Given the description of an element on the screen output the (x, y) to click on. 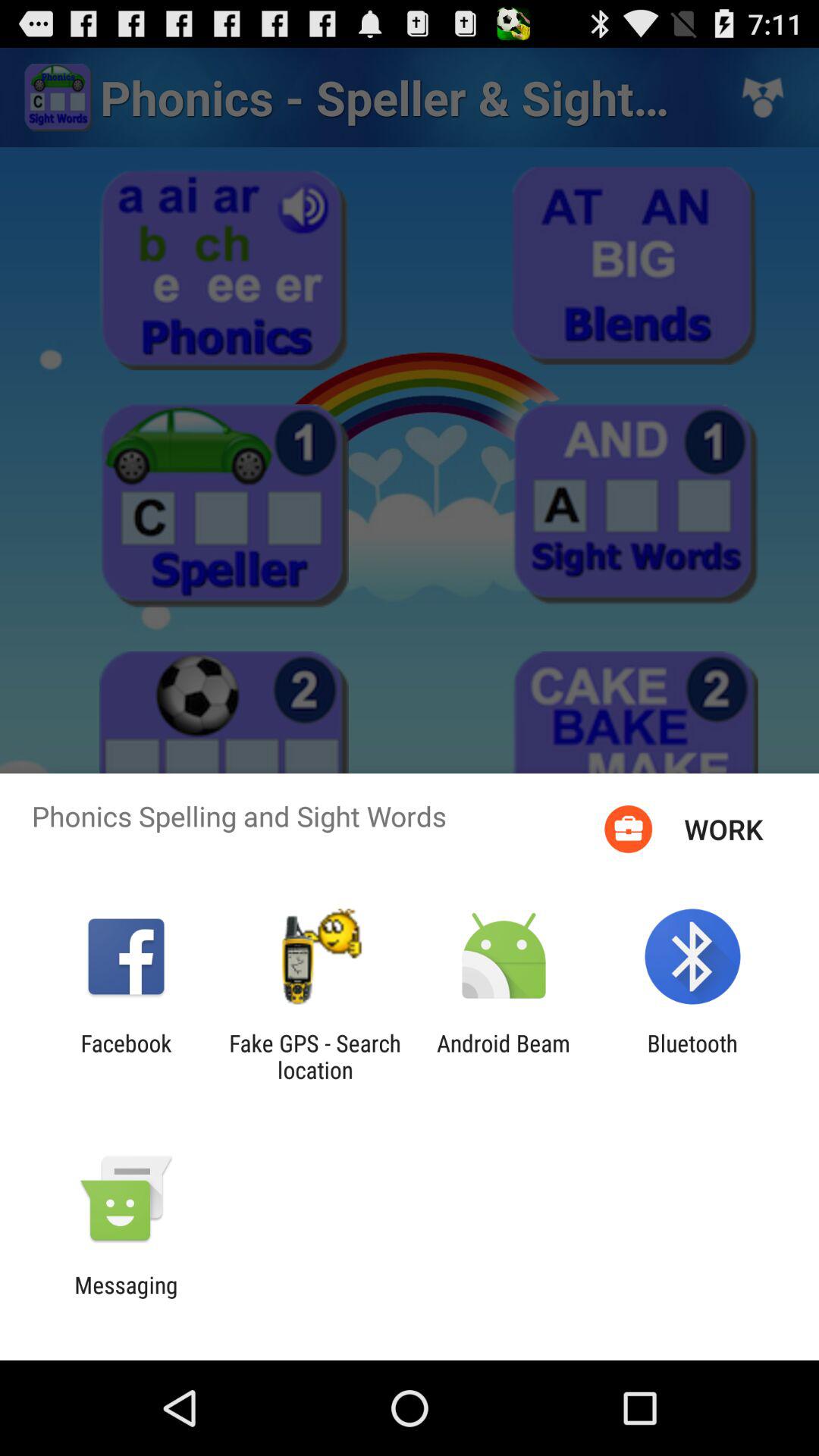
click the icon next to the android beam (692, 1056)
